Given the description of an element on the screen output the (x, y) to click on. 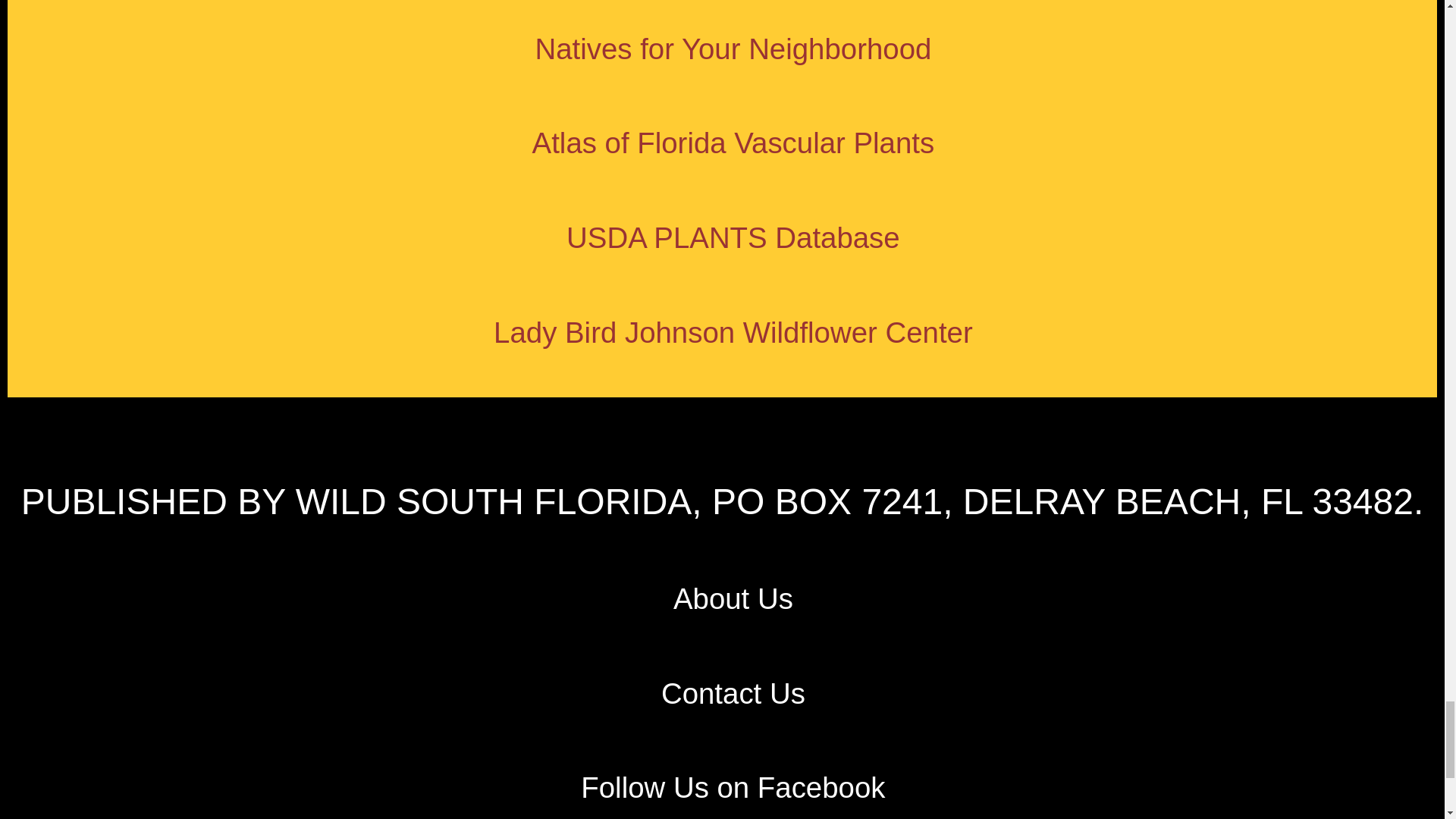
Contact Us (733, 692)
USDA PLANTS Database (732, 237)
Follow Us on Facebook (732, 787)
About Us (732, 598)
Lady Bird Johnson Wildflower Center (732, 332)
Natives for Your Neighborhood (732, 48)
Atlas of Florida Vascular Plants (733, 142)
